Given the description of an element on the screen output the (x, y) to click on. 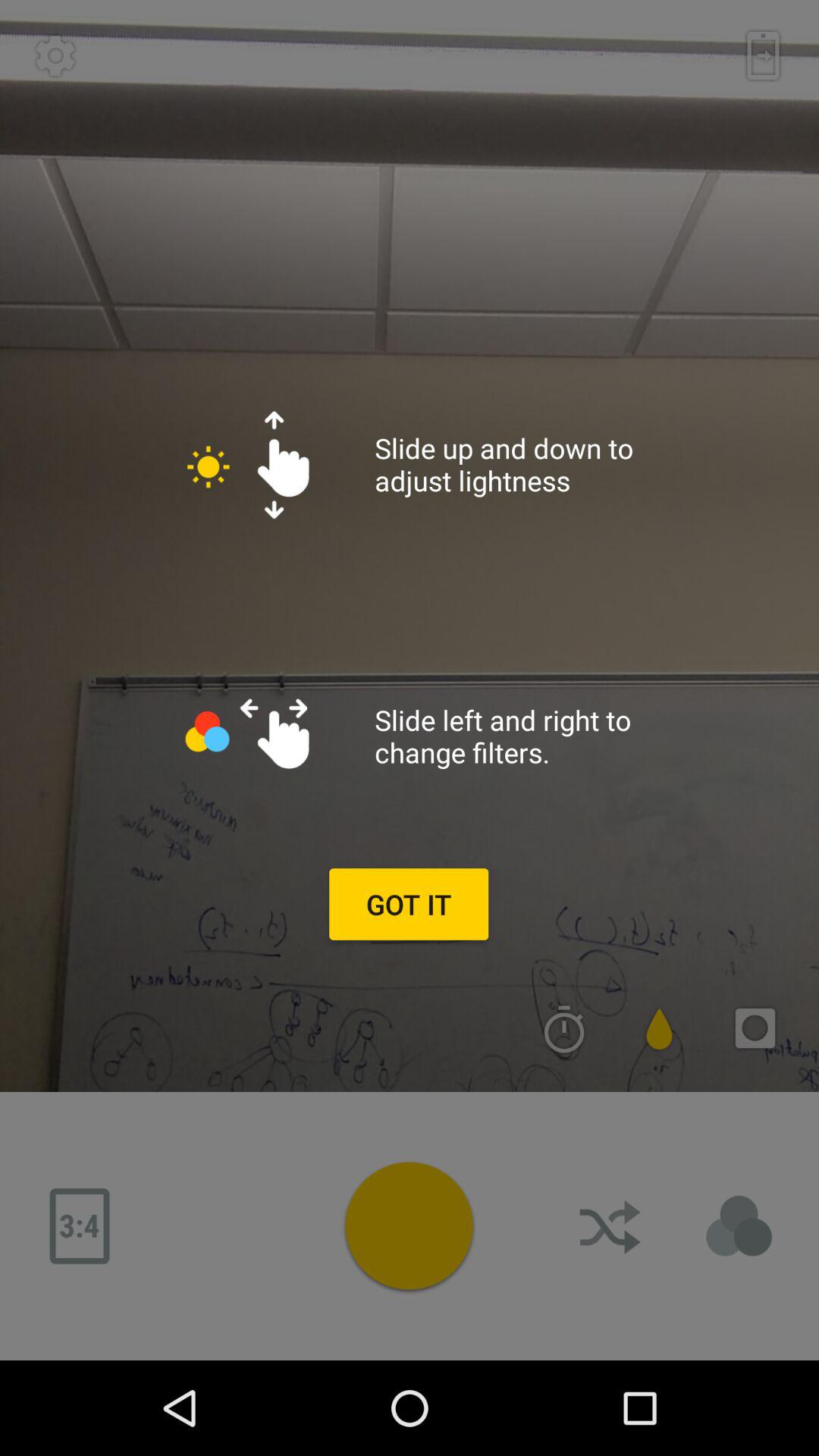
minuses (79, 1226)
